Given the description of an element on the screen output the (x, y) to click on. 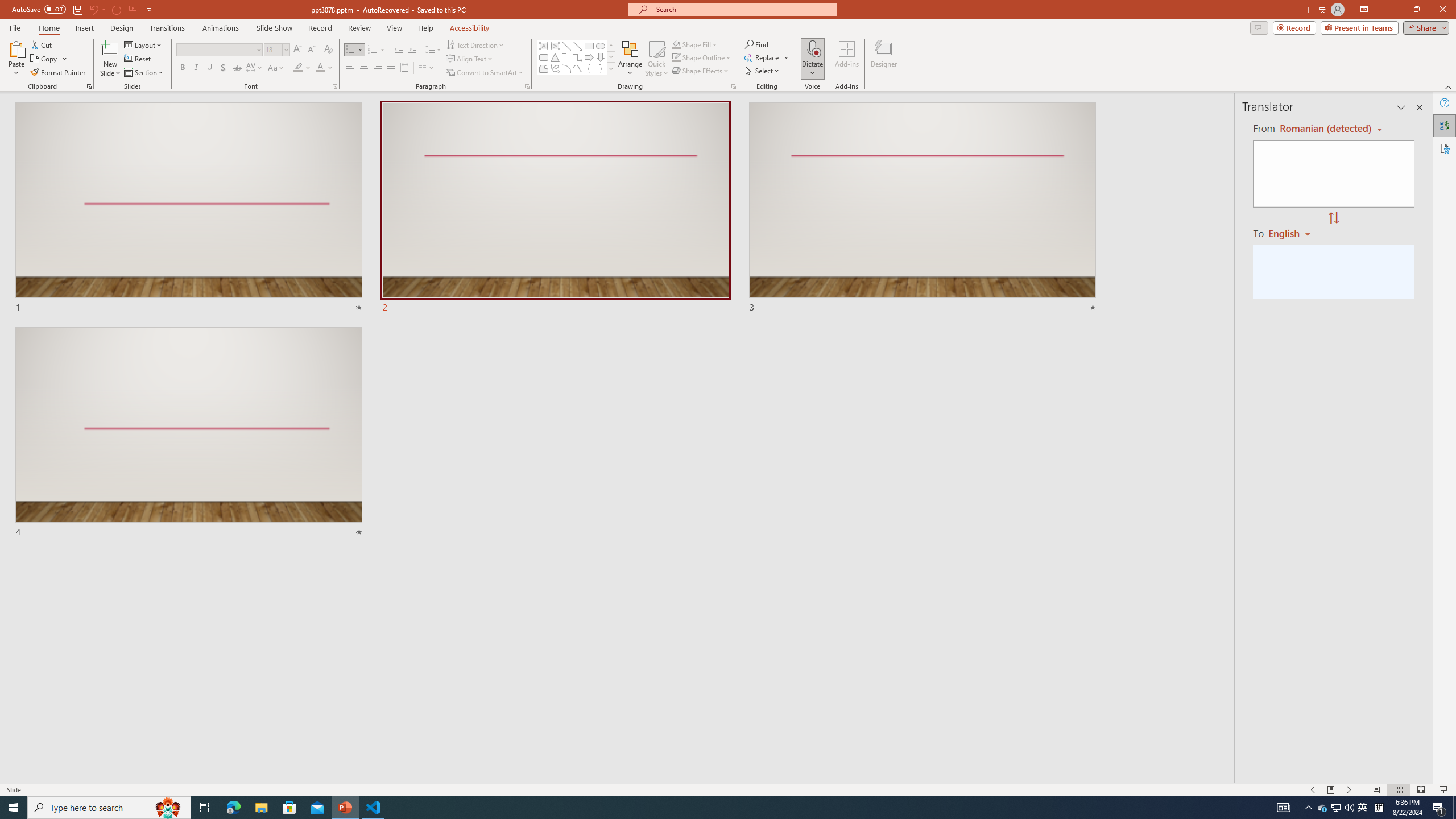
Shape Fill Dark Green, Accent 2 (675, 44)
Connector: Elbow (566, 57)
Freeform: Scribble (554, 68)
Minimize (1390, 9)
Vertical Text Box (554, 45)
Help (1444, 102)
AutomationID: ShapesInsertGallery (576, 57)
Undo (96, 9)
Undo (92, 9)
Redo (117, 9)
Oval (600, 45)
Decrease Font Size (310, 49)
Insert (83, 28)
Arrow: Down (600, 57)
Font (215, 49)
